Given the description of an element on the screen output the (x, y) to click on. 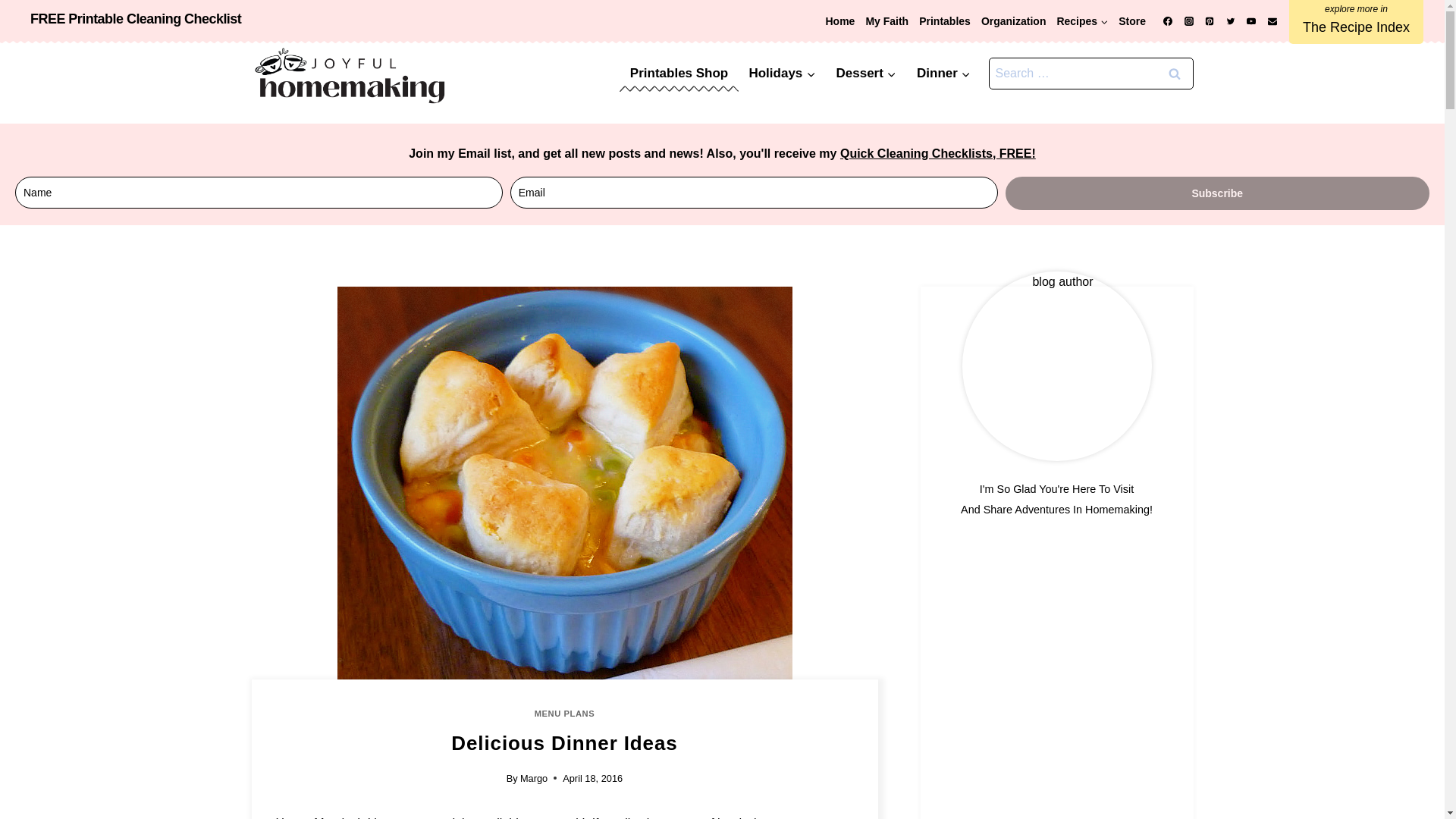
Home (839, 20)
Store (1132, 20)
My Faith (887, 20)
Search (1174, 73)
FREE Printable Cleaning Checklist (135, 18)
Recipes (1082, 20)
Printables (944, 20)
Search (1174, 73)
Organization (1013, 20)
